Given the description of an element on the screen output the (x, y) to click on. 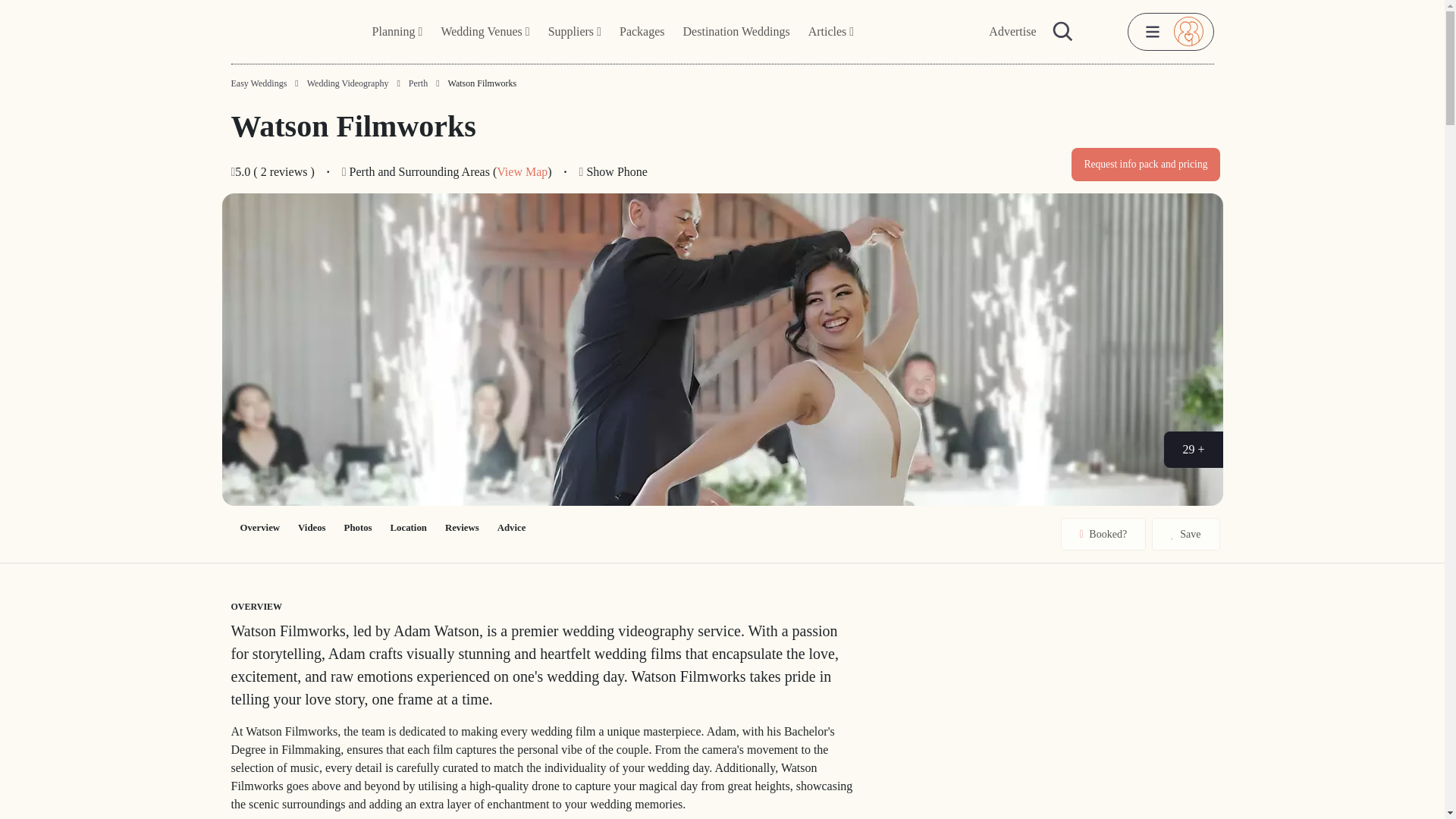
Booked? (1103, 533)
Suppliers (574, 31)
View Map (521, 171)
Easy Weddings (258, 83)
Location (408, 528)
Planning (397, 31)
Wedding Videography (347, 83)
Articles (831, 31)
Advertise (1012, 31)
